Given the description of an element on the screen output the (x, y) to click on. 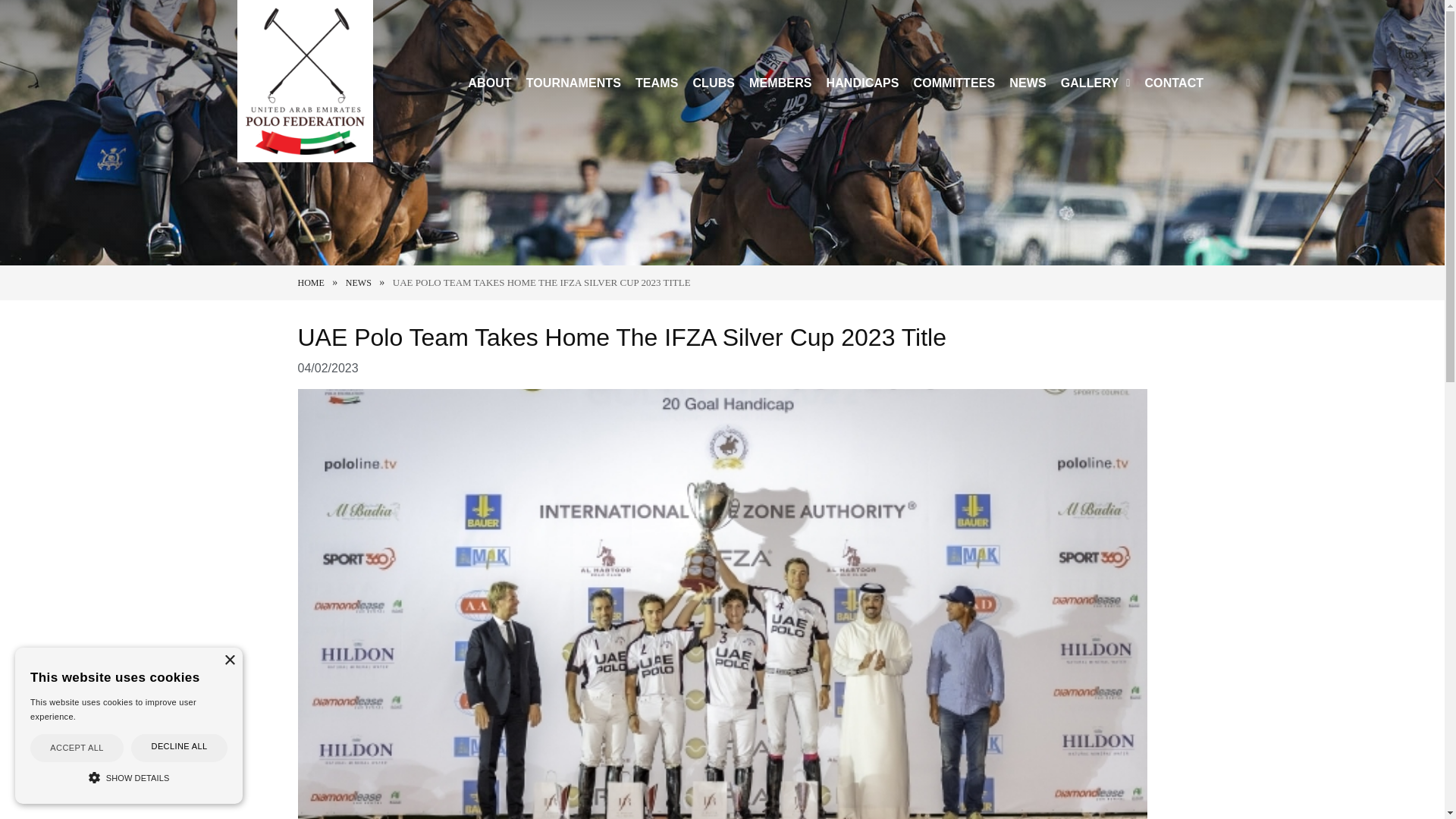
CONTACT (1173, 83)
NEWS (1027, 83)
TEAMS (656, 83)
TOURNAMENTS (573, 83)
HOME (310, 282)
MEMBERS (780, 83)
HANDICAPS (862, 83)
COMMITTEES (953, 83)
CLUBS (713, 83)
NEWS (358, 282)
GALLERY (1095, 83)
ABOUT (489, 83)
